Given the description of an element on the screen output the (x, y) to click on. 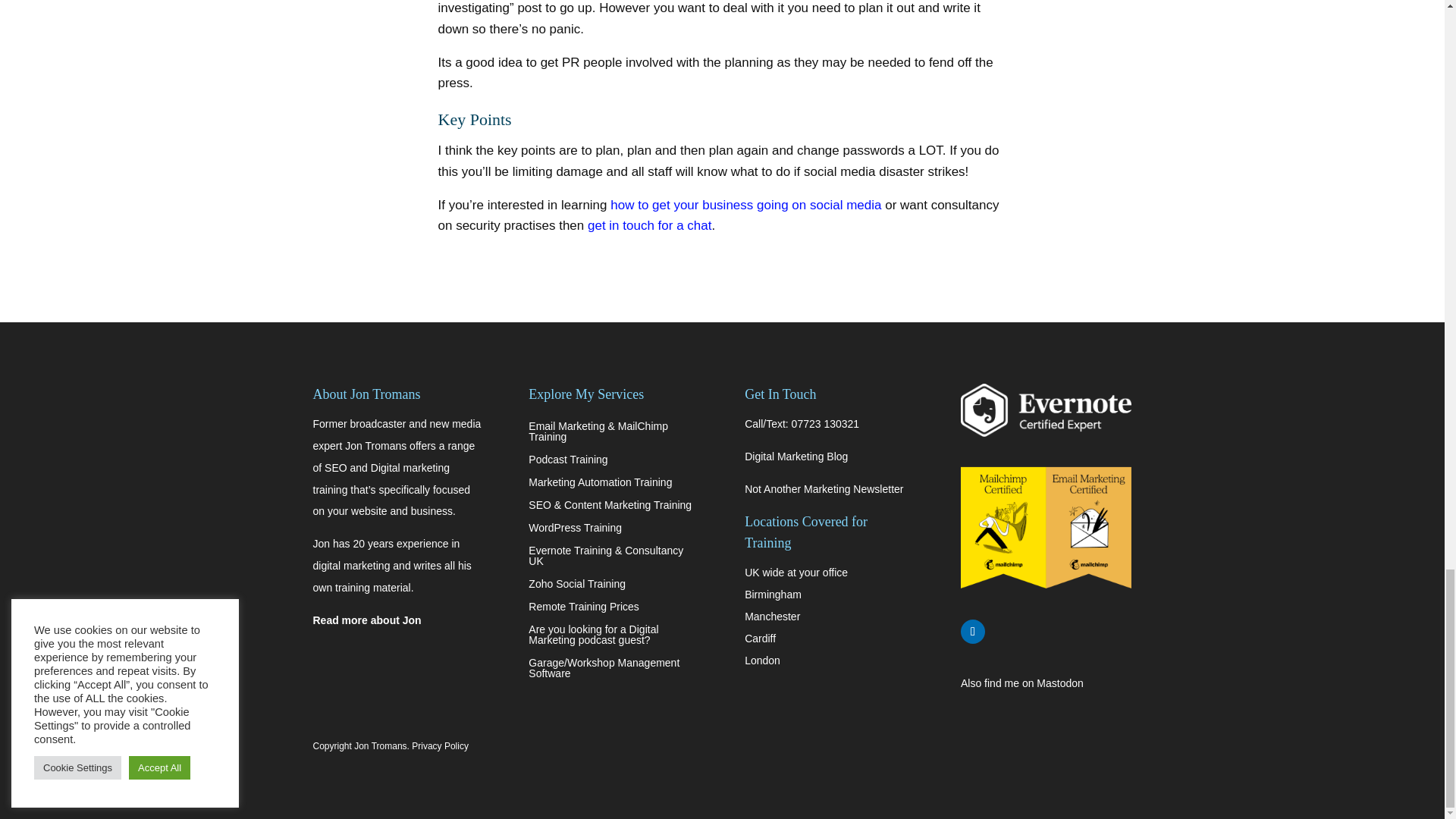
Mailchimp Certified (1045, 528)
Follow on LinkedIn (972, 631)
Contact (649, 225)
Evernote Certified Expert (1045, 410)
